Given the description of an element on the screen output the (x, y) to click on. 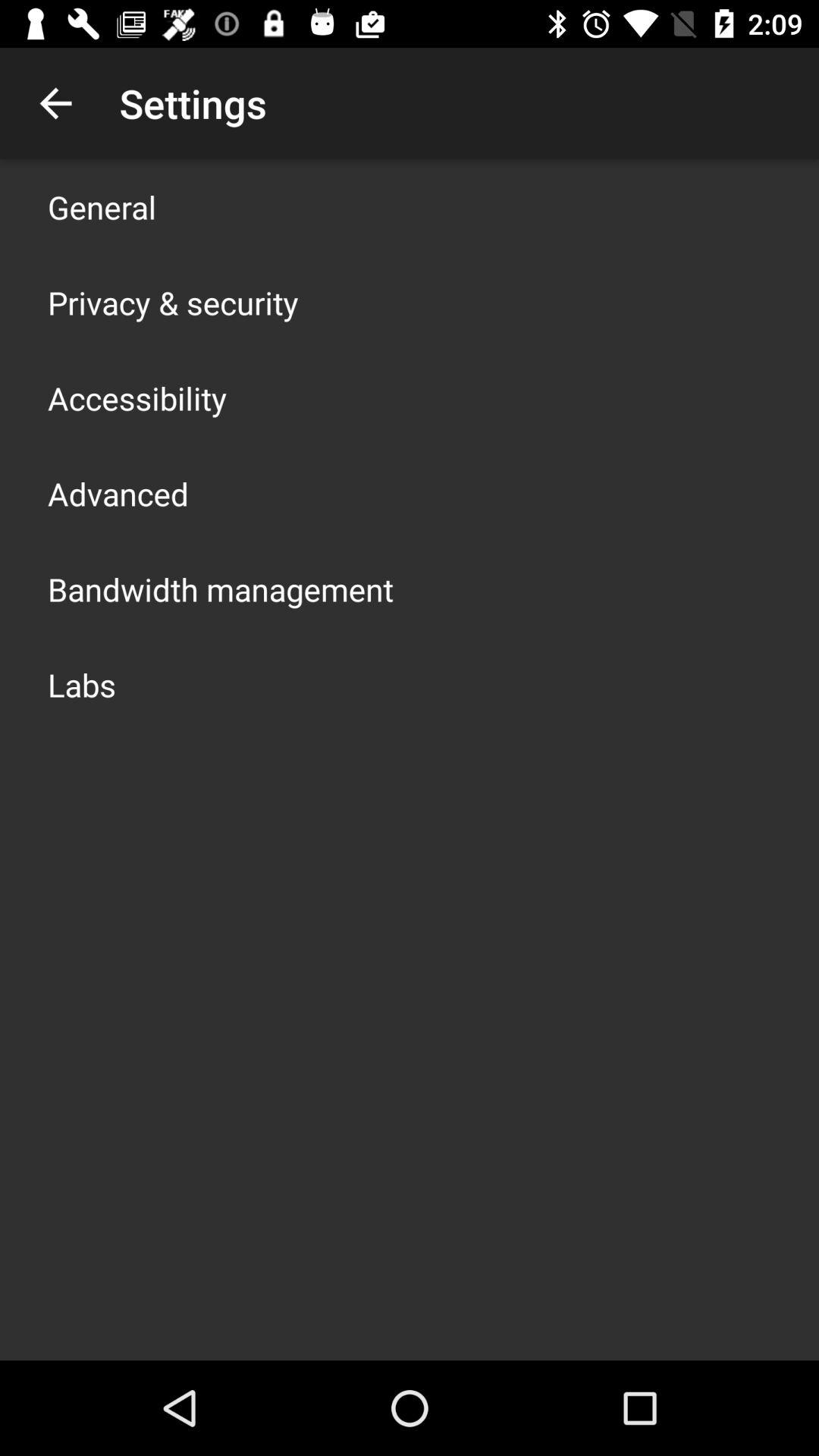
choose the icon above the labs (220, 588)
